Given the description of an element on the screen output the (x, y) to click on. 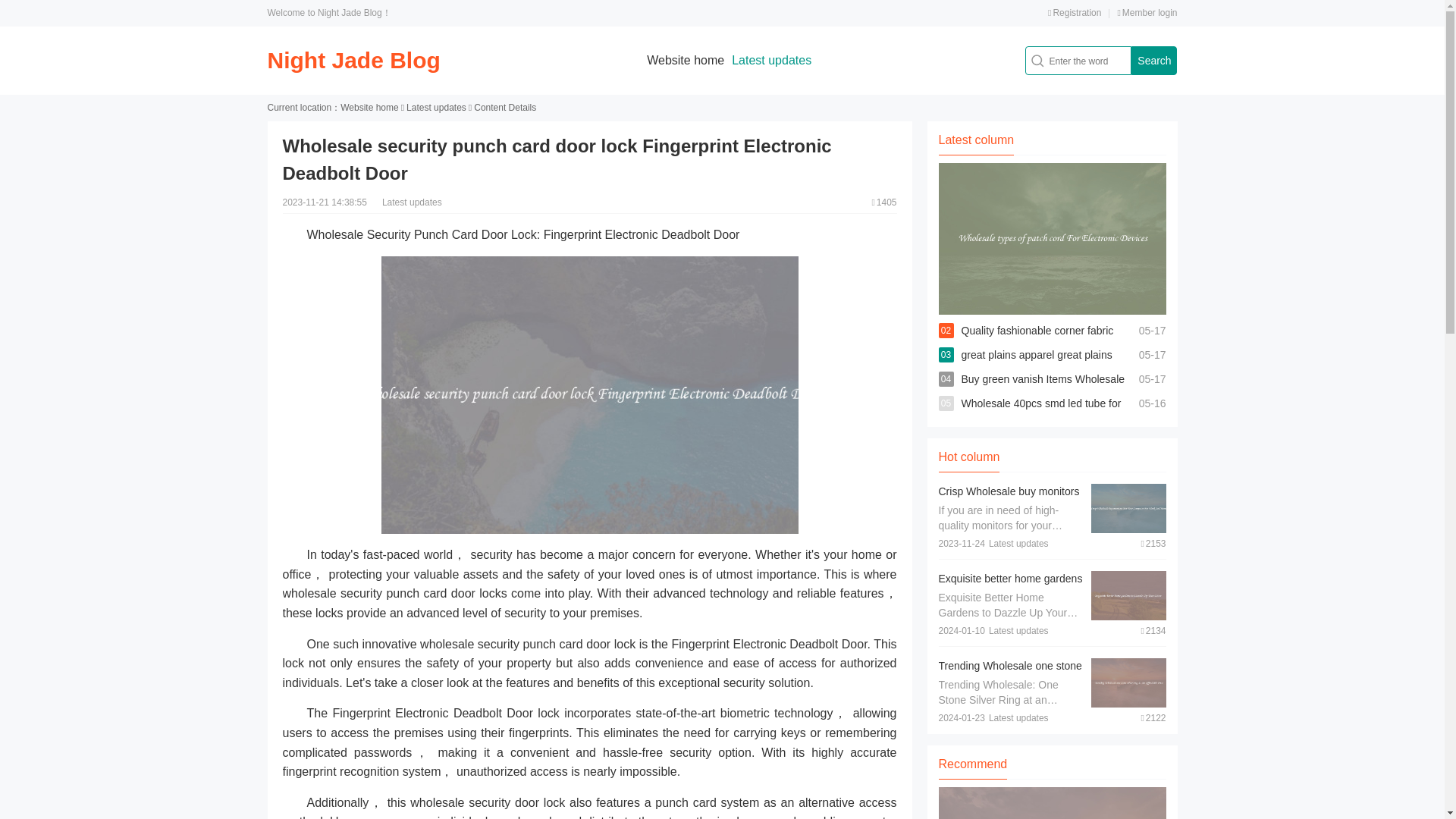
Night Jade Blog (352, 59)
Latest updates (771, 60)
Website home (368, 107)
Latest updates (435, 107)
Search (1153, 60)
Buy green vanish Items Wholesale For Your Business (1042, 391)
Website home (684, 60)
